Given the description of an element on the screen output the (x, y) to click on. 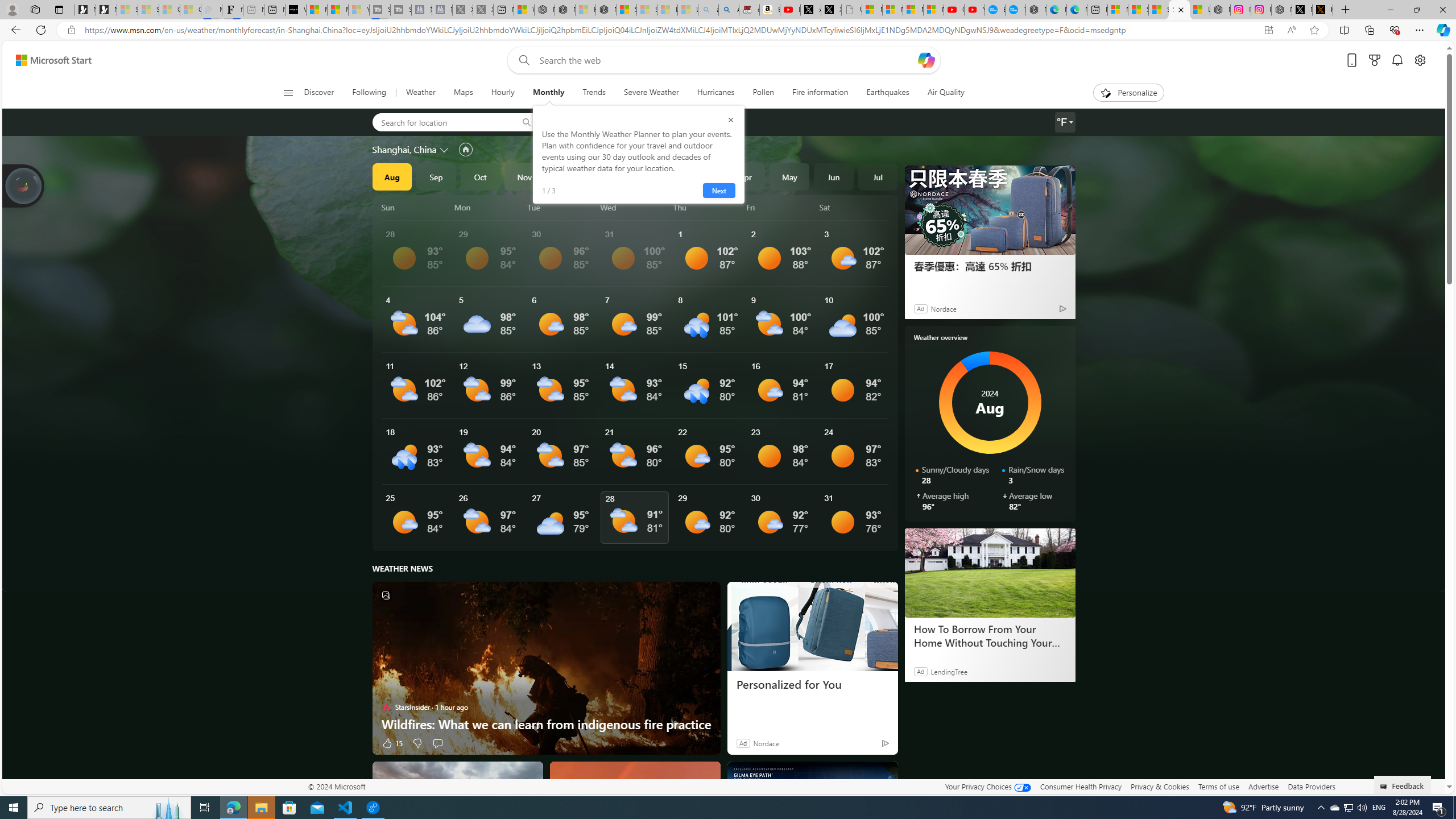
Hourly (502, 92)
Trends (593, 92)
Wed (634, 207)
Monthly (548, 92)
Severe Weather (651, 92)
Your Privacy Choices (987, 785)
